Given the description of an element on the screen output the (x, y) to click on. 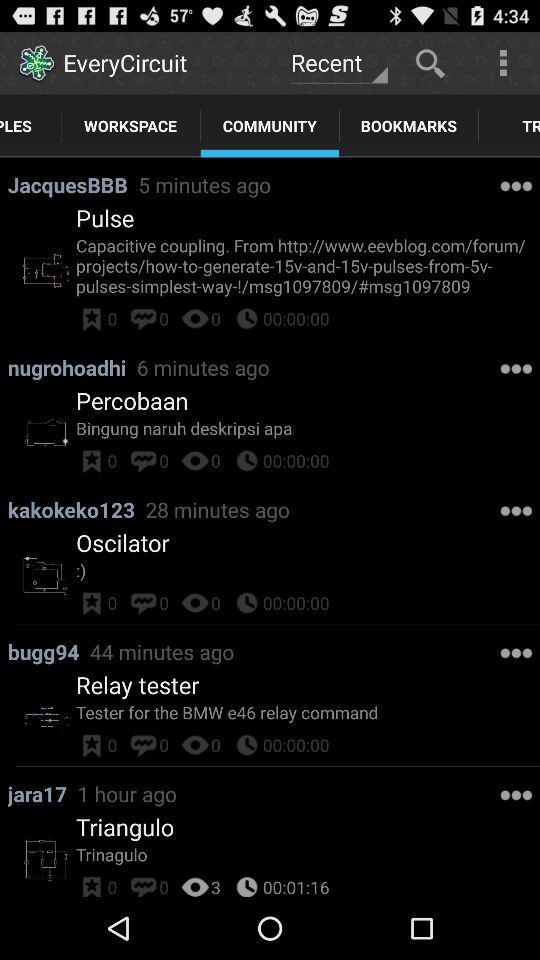
jump to 3 icon (215, 883)
